Given the description of an element on the screen output the (x, y) to click on. 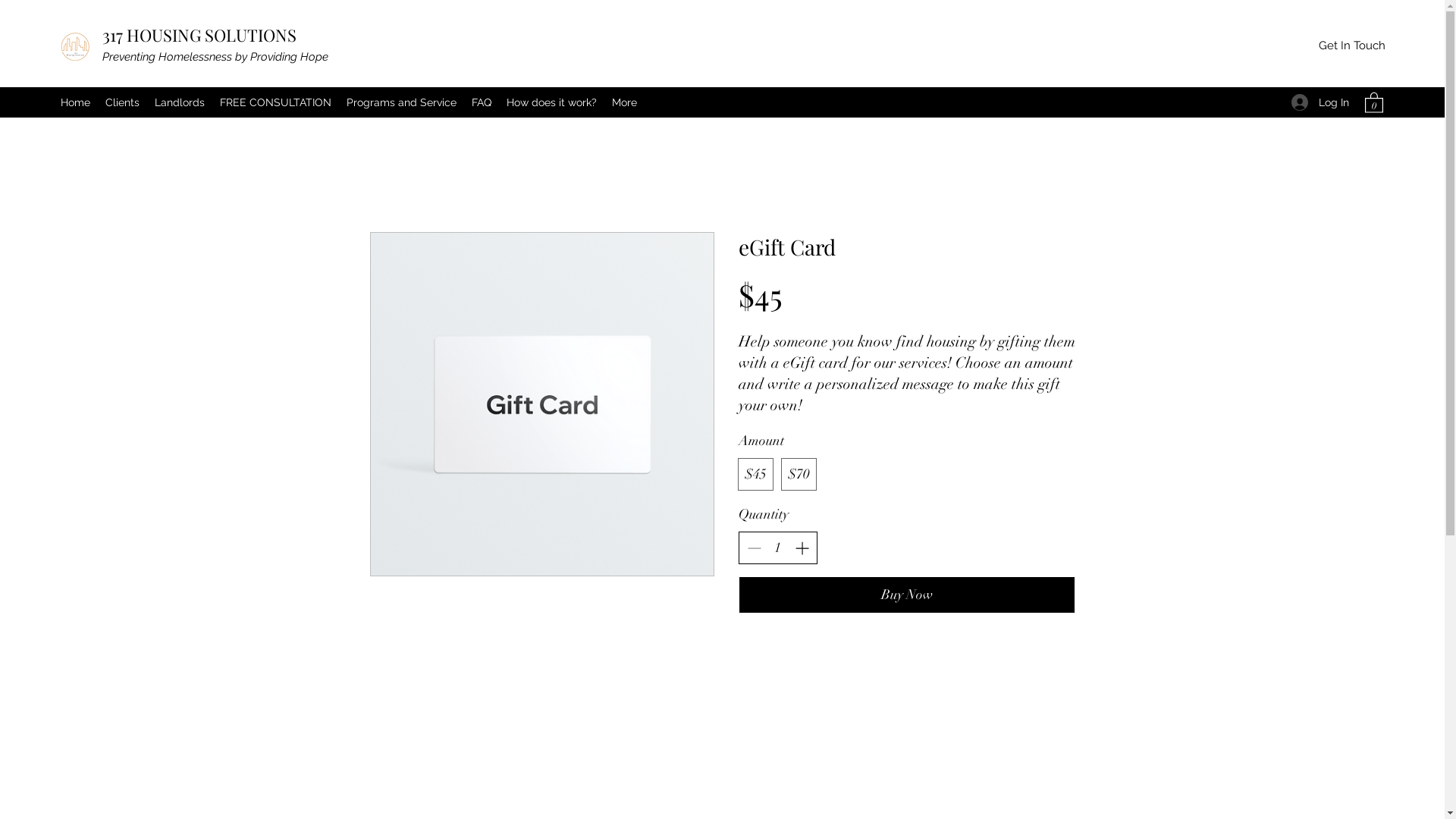
FREE CONSULTATION Element type: text (275, 102)
Log In Element type: text (1319, 102)
Buy Now Element type: text (906, 594)
Clients Element type: text (122, 102)
317 HOUSING SOLUTIONS Element type: text (199, 34)
0 Element type: text (1374, 101)
How does it work? Element type: text (551, 102)
Programs and Service Element type: text (401, 102)
FAQ Element type: text (481, 102)
Home Element type: text (75, 102)
Landlords Element type: text (179, 102)
